Given the description of an element on the screen output the (x, y) to click on. 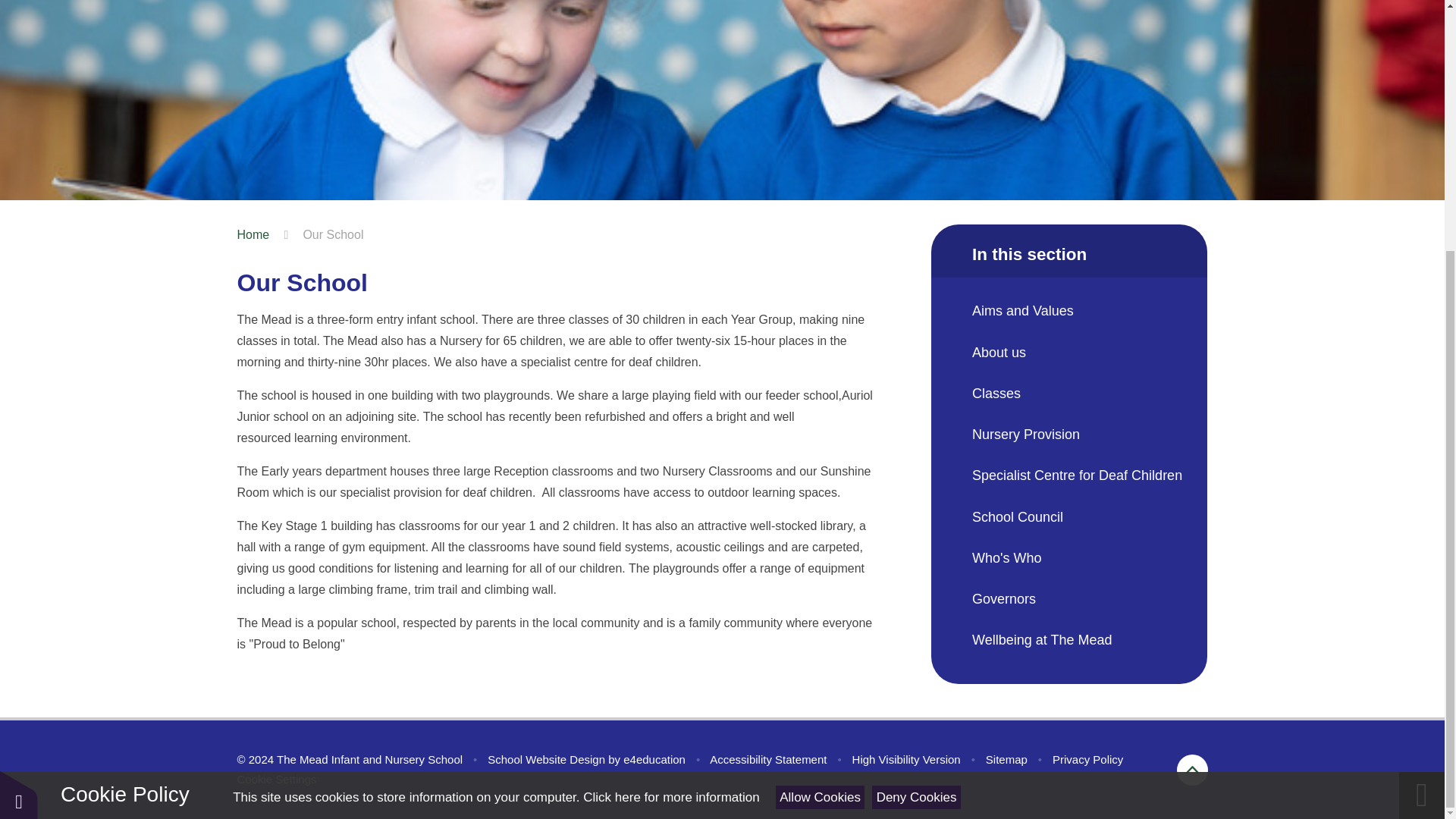
Allow Cookies (820, 445)
See cookie policy (670, 445)
Deny Cookies (915, 445)
Cookie Settings (275, 779)
